Given the description of an element on the screen output the (x, y) to click on. 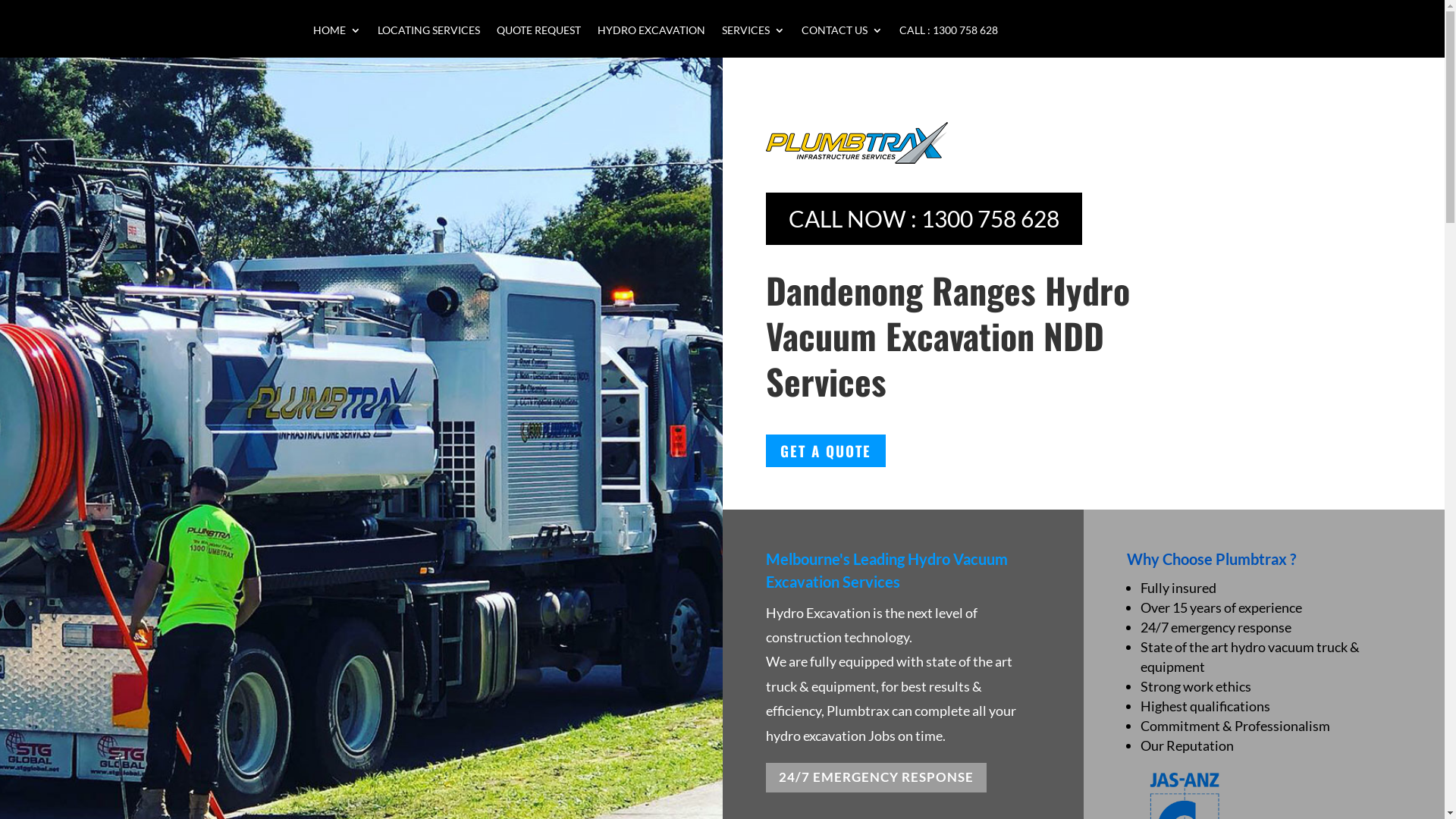
SERVICES Element type: text (752, 41)
HYDRO EXCAVATION Element type: text (651, 41)
CONTACT US Element type: text (840, 41)
CALL NOW : 1300 758 628 Element type: text (923, 218)
24/7 EMERGENCY RESPONSE Element type: text (875, 777)
QUOTE REQUEST Element type: text (537, 41)
CALL : 1300 758 628 Element type: text (948, 41)
HOME Element type: text (336, 41)
GET A QUOTE Element type: text (825, 450)
LOCATING SERVICES Element type: text (428, 41)
